Given the description of an element on the screen output the (x, y) to click on. 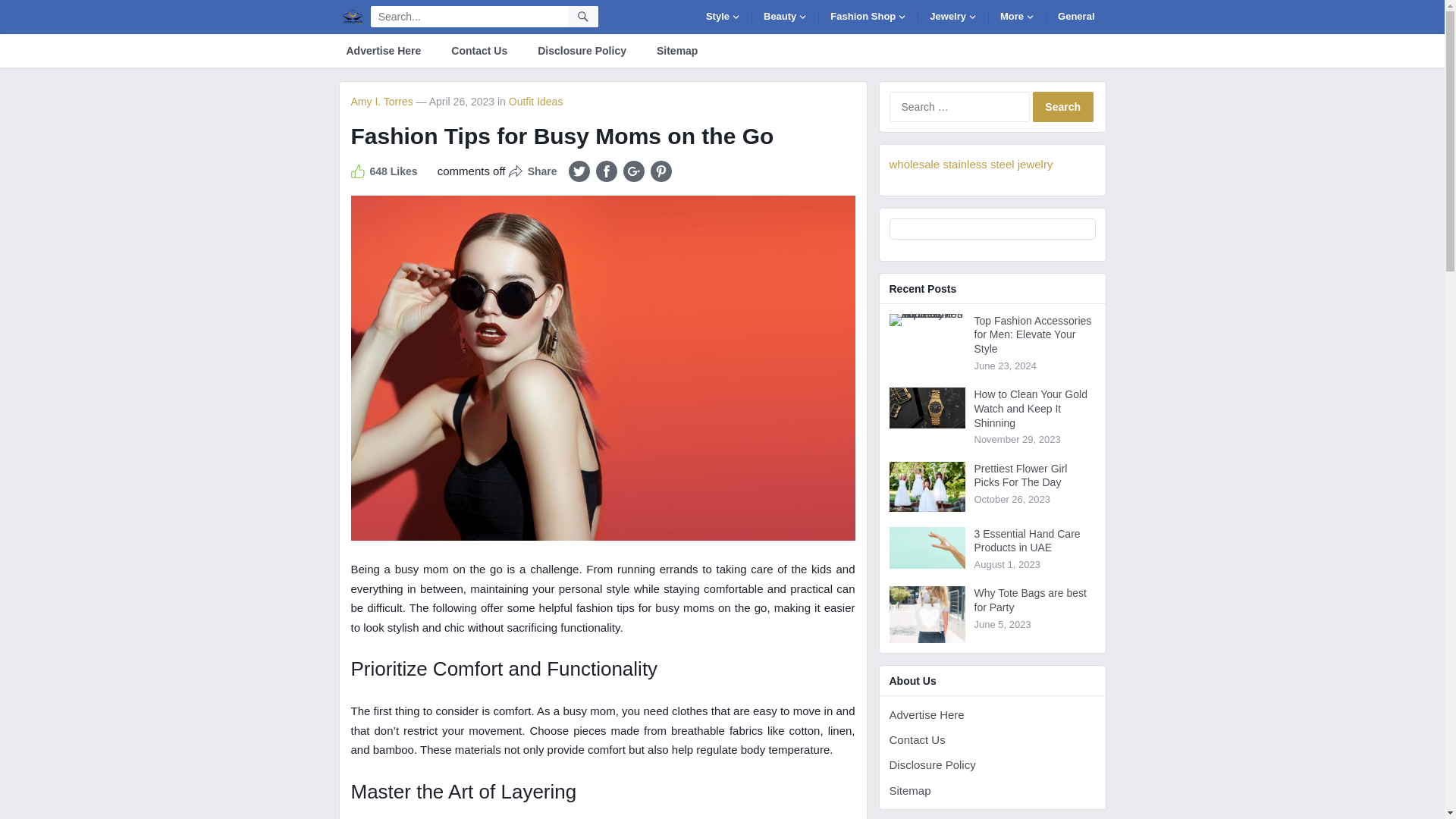
Top Fashion Accessories for Men: Elevate Your Style (925, 319)
General (1075, 15)
Prettiest Flower Girl Picks For The Day (925, 486)
Beauty (785, 15)
Fashion Shop (868, 15)
Contact Us (479, 50)
Disclosure Policy (581, 50)
Search (1062, 106)
View all posts in Outfit Ideas (535, 101)
Advertise Here (382, 50)
More (1017, 15)
How to Clean Your Gold Watch and Keep It Shinning (925, 407)
Unlike (383, 171)
Jewelry (953, 15)
